Given the description of an element on the screen output the (x, y) to click on. 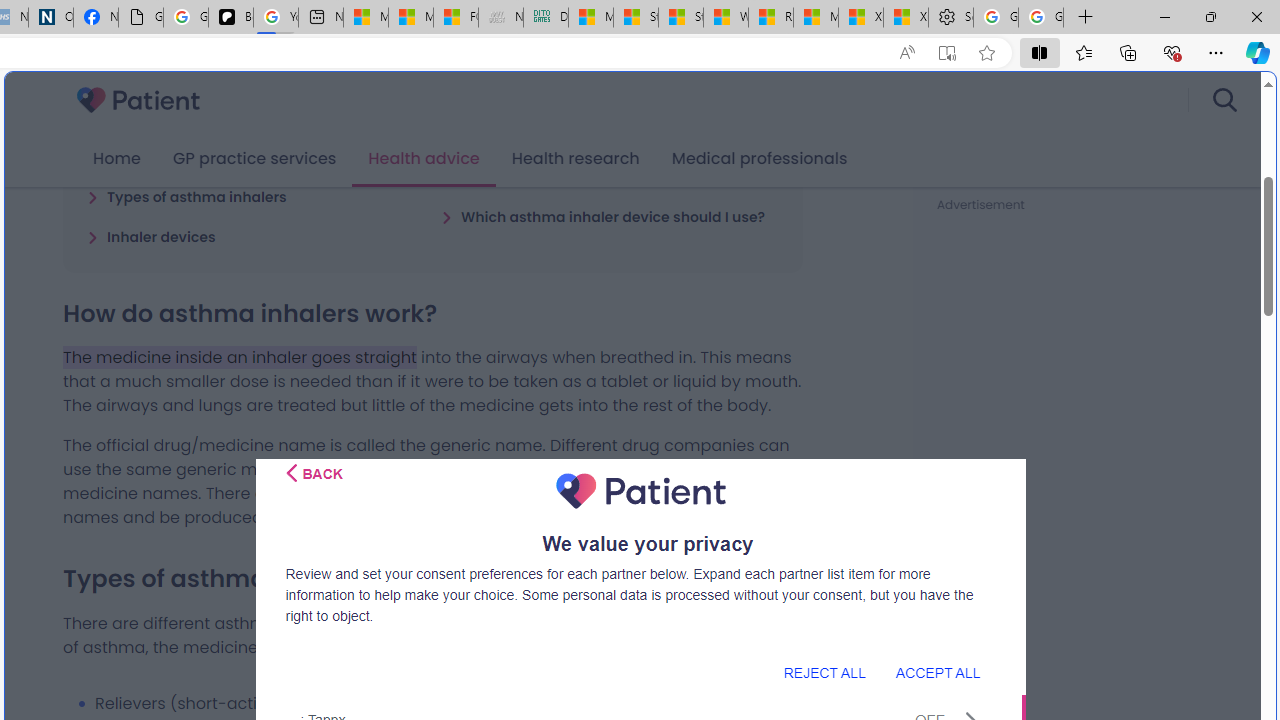
Medical professionals (759, 159)
Patient 3.0 (138, 100)
REJECT ALL (824, 672)
Be Smart | creating Science videos | Patreon (230, 17)
FOX News - MSN (455, 17)
Google Analytics Opt-out Browser Add-on Download Page (140, 17)
Which asthma inhaler device should I use? (603, 216)
ACCEPT ALL (937, 672)
